Given the description of an element on the screen output the (x, y) to click on. 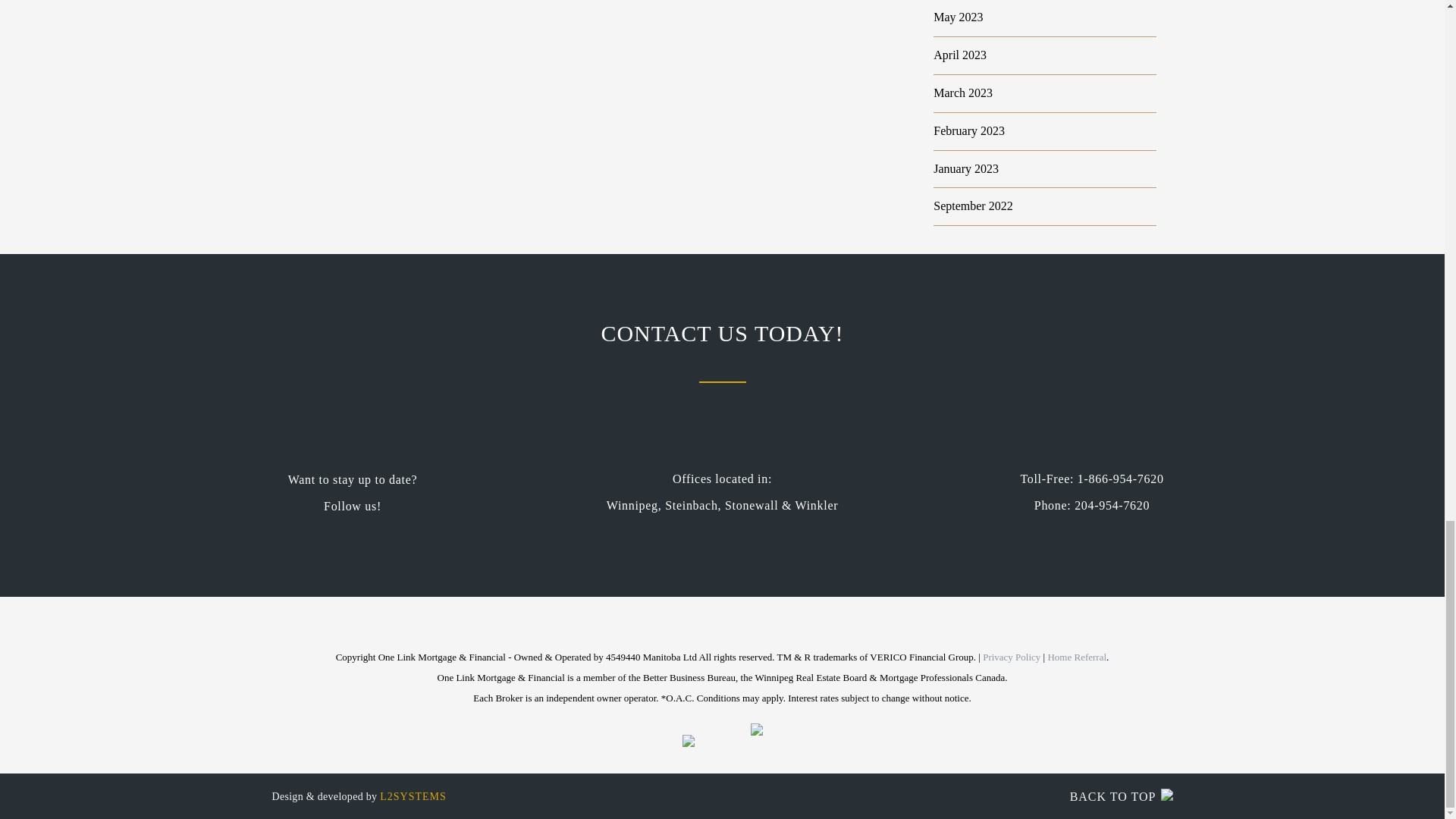
April 2023 (960, 54)
BACK TO TOP (1142, 789)
May 2023 (957, 16)
March 2023 (962, 92)
